Given the description of an element on the screen output the (x, y) to click on. 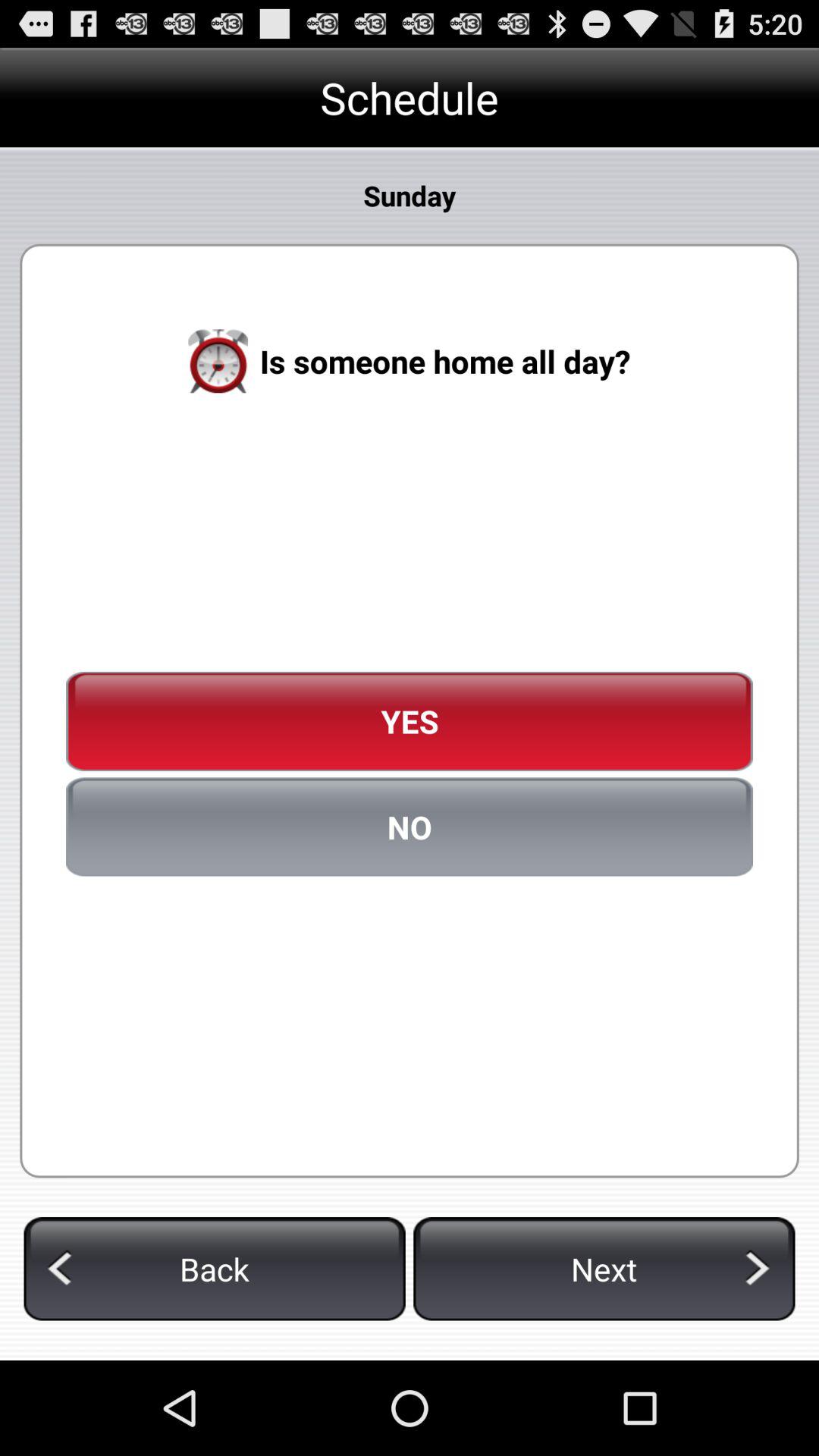
press back icon (214, 1268)
